Given the description of an element on the screen output the (x, y) to click on. 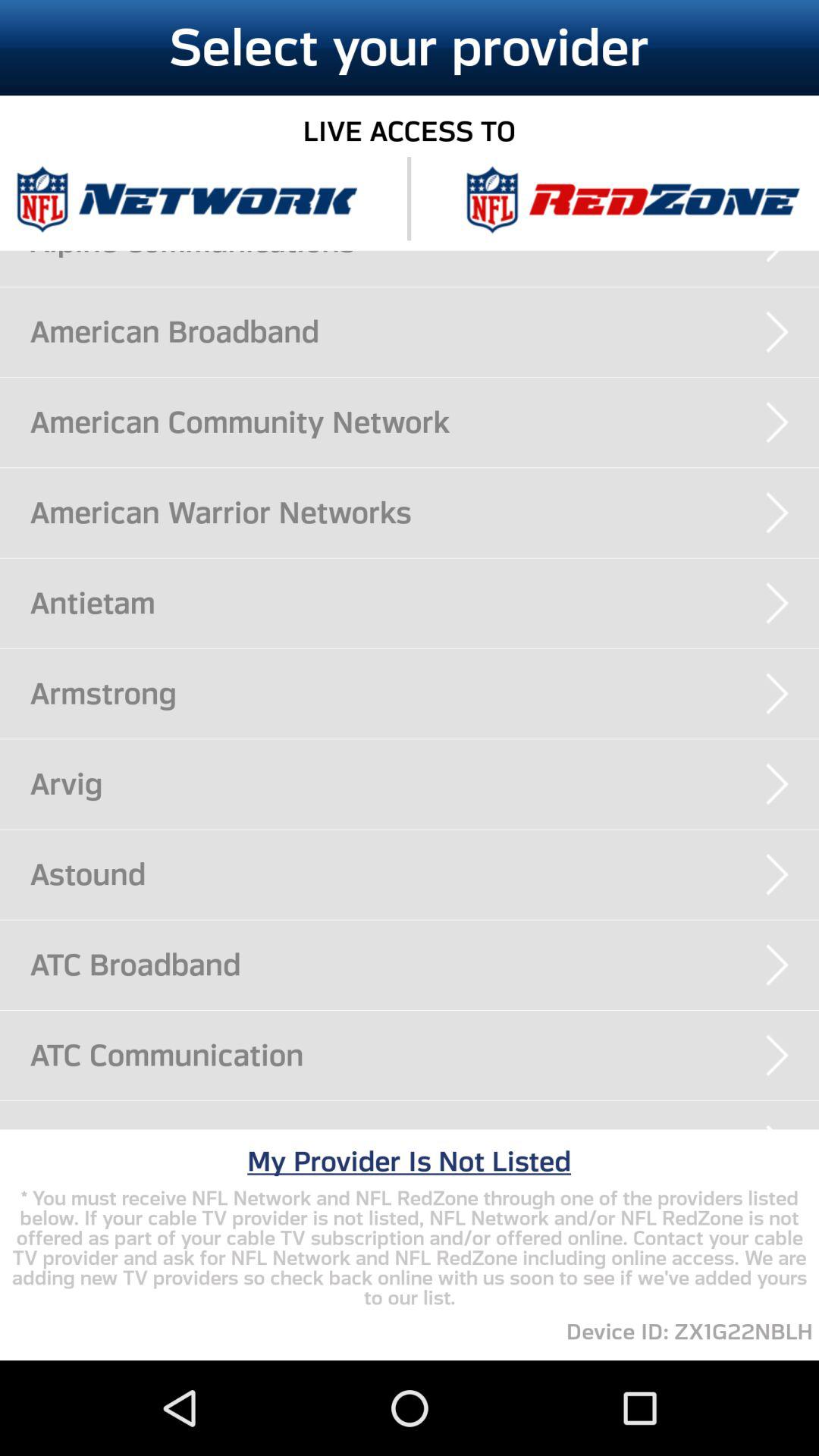
turn on the american broadband icon (424, 331)
